Given the description of an element on the screen output the (x, y) to click on. 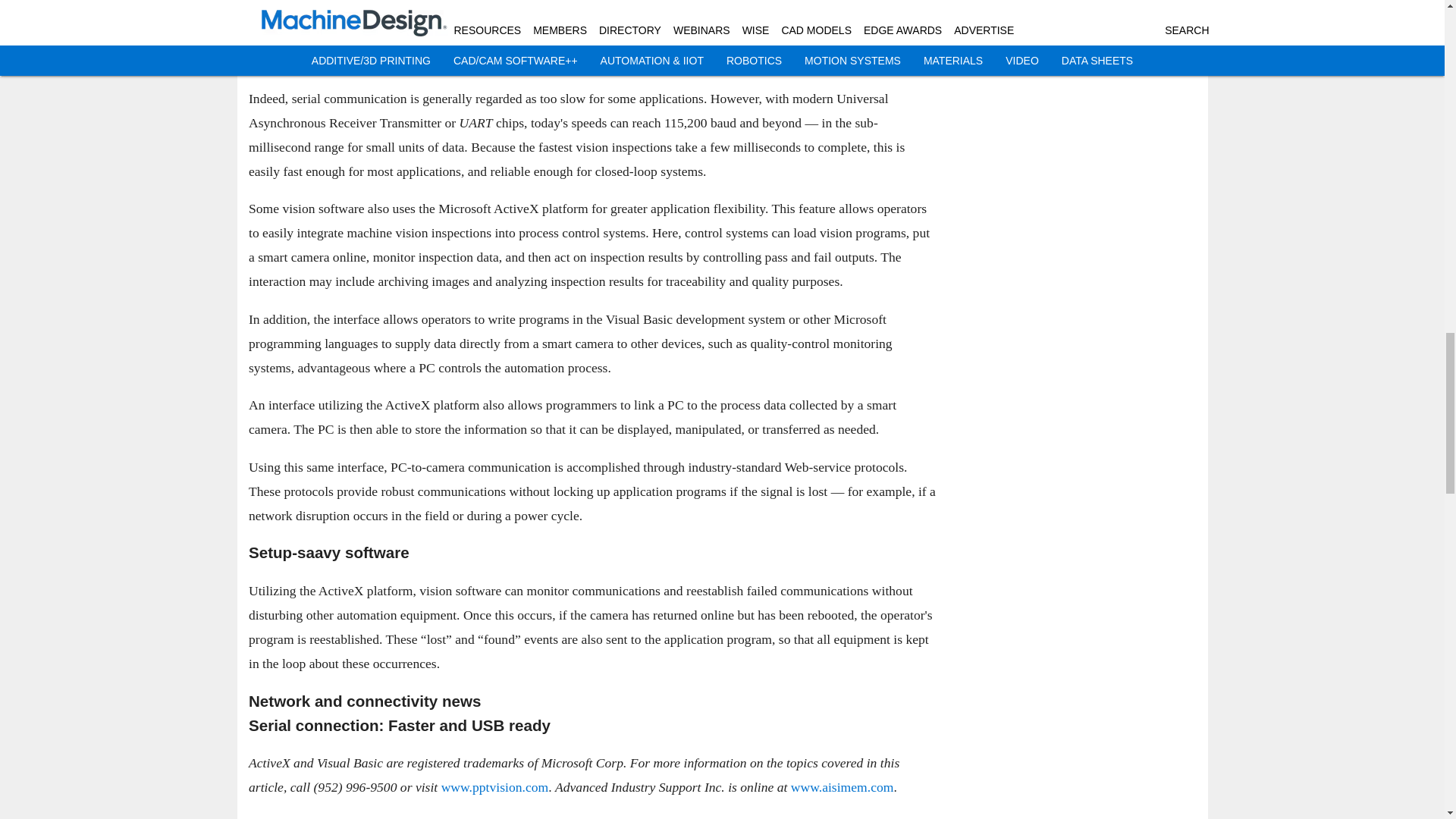
www.pptvision.com (494, 786)
www.aisimem.com (841, 786)
